Given the description of an element on the screen output the (x, y) to click on. 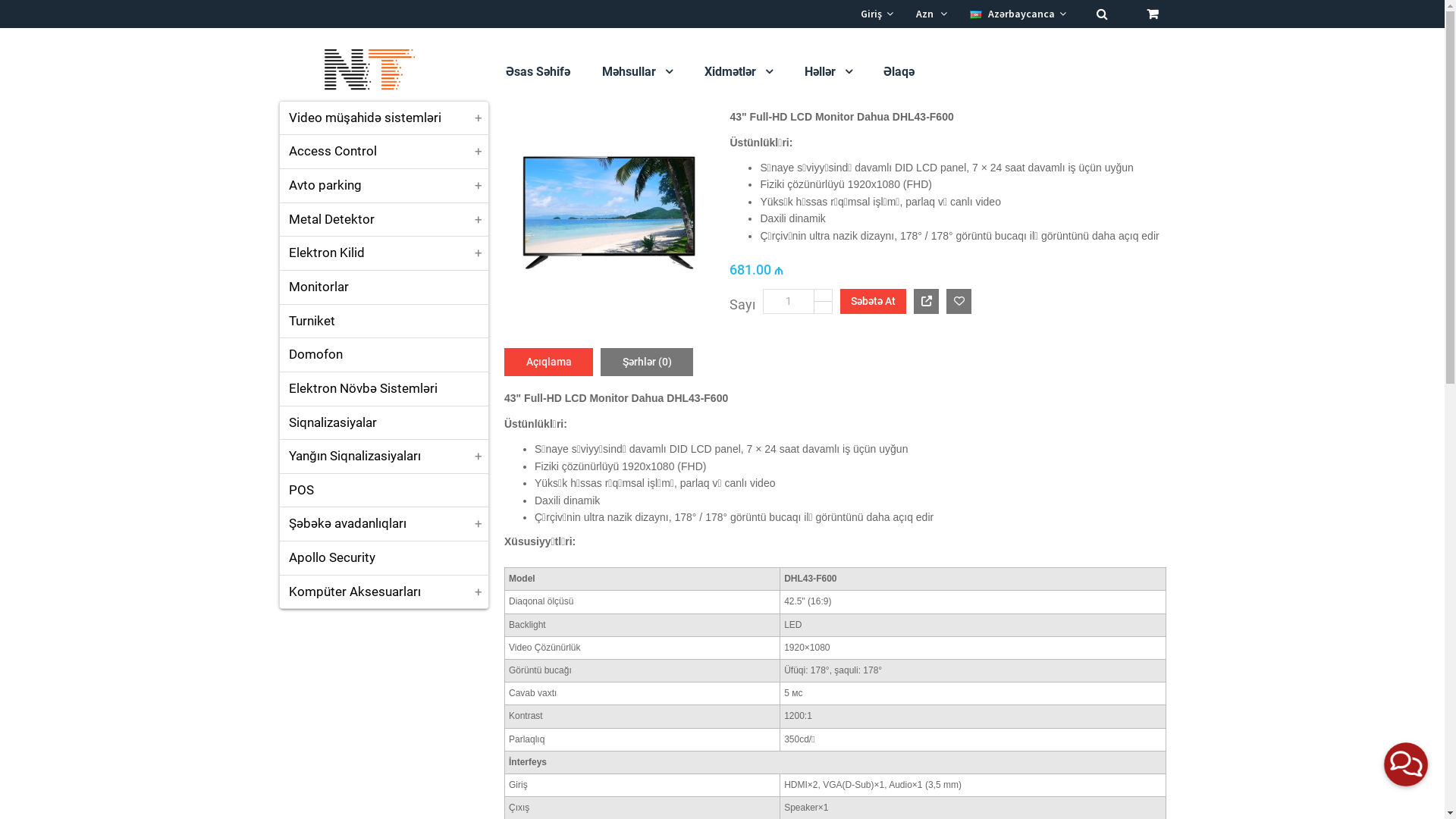
Azn    Element type: text (931, 13)
Siqnalizasiyalar Element type: text (383, 422)
Network Technologies Element type: hover (362, 69)
Domofon Element type: text (383, 354)
Monitorlar Element type: text (383, 287)
Elektron Kilid
+ Element type: text (383, 252)
Apollo Security Element type: text (383, 557)
POS Element type: text (383, 490)
Avto parking
+ Element type: text (383, 185)
Metal Detektor
+ Element type: text (383, 219)
Access Control
+ Element type: text (383, 151)
Turniket Element type: text (383, 321)
